Given the description of an element on the screen output the (x, y) to click on. 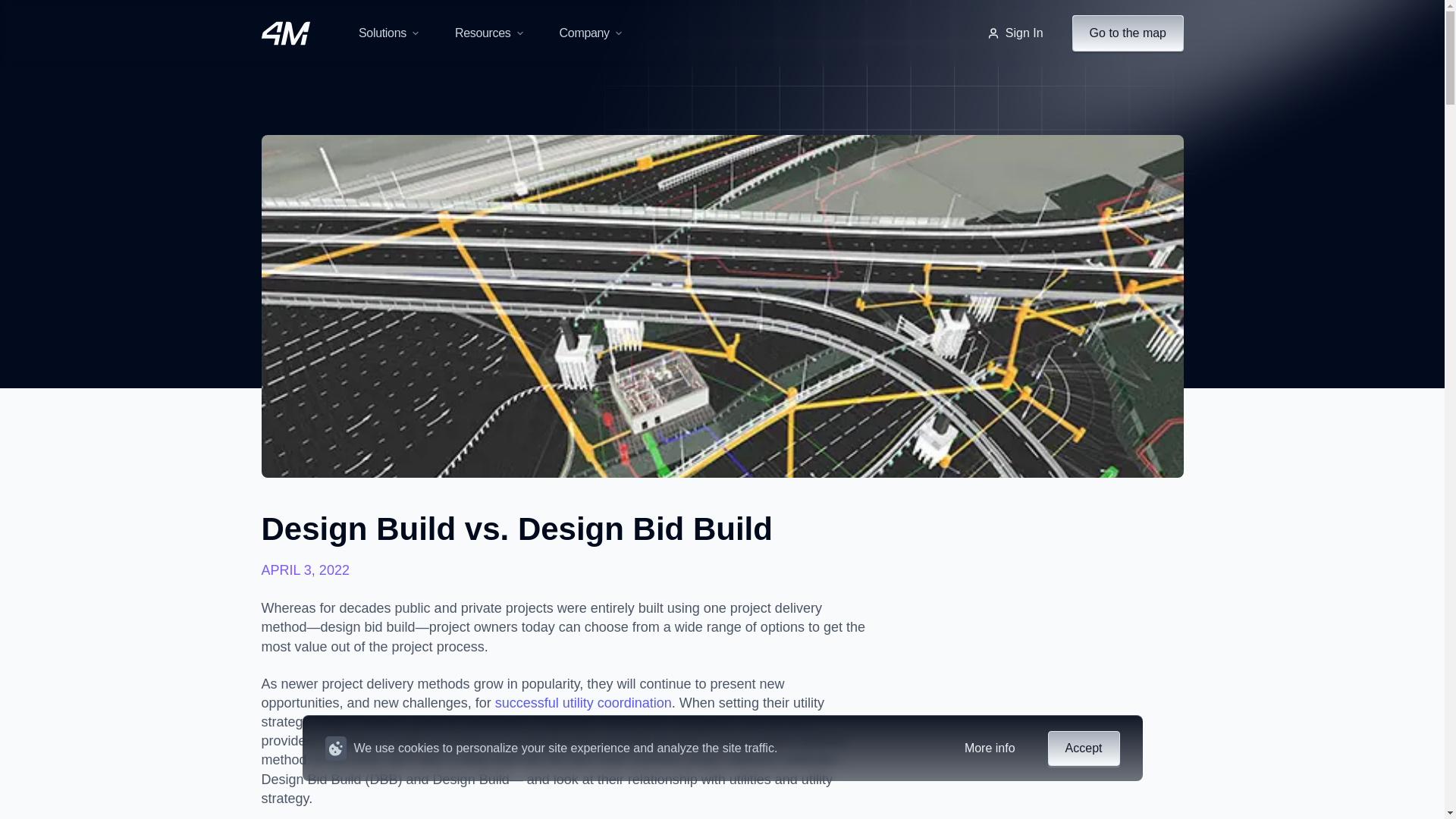
Go to the map (1126, 33)
successful utility coordination (583, 702)
Sign In (1014, 33)
Accept (1083, 748)
More info (989, 748)
